Given the description of an element on the screen output the (x, y) to click on. 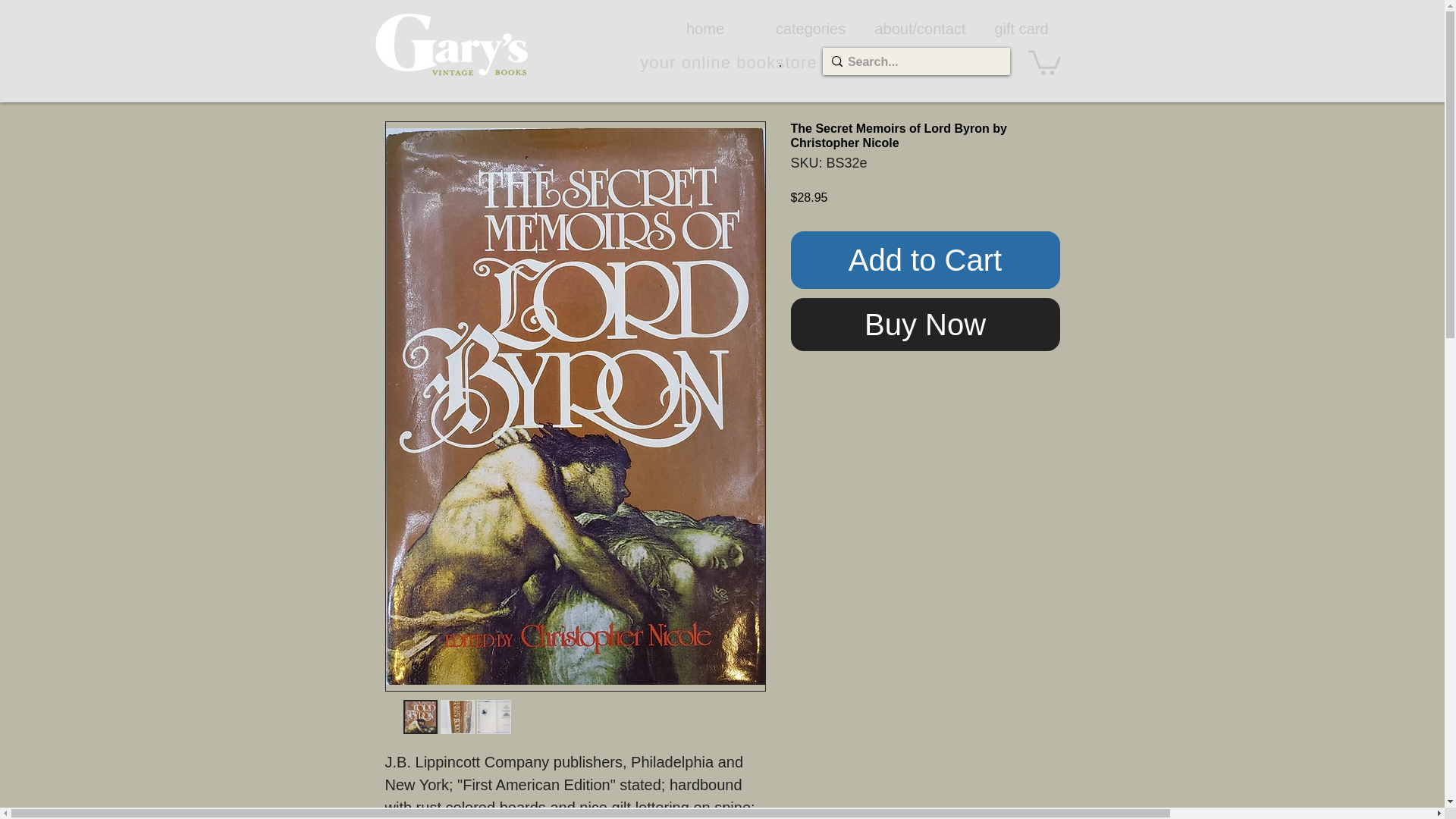
your online bookstore (728, 62)
categories (810, 28)
Buy Now (924, 324)
Add to Cart (924, 259)
home (704, 28)
gift card (1021, 28)
